Given the description of an element on the screen output the (x, y) to click on. 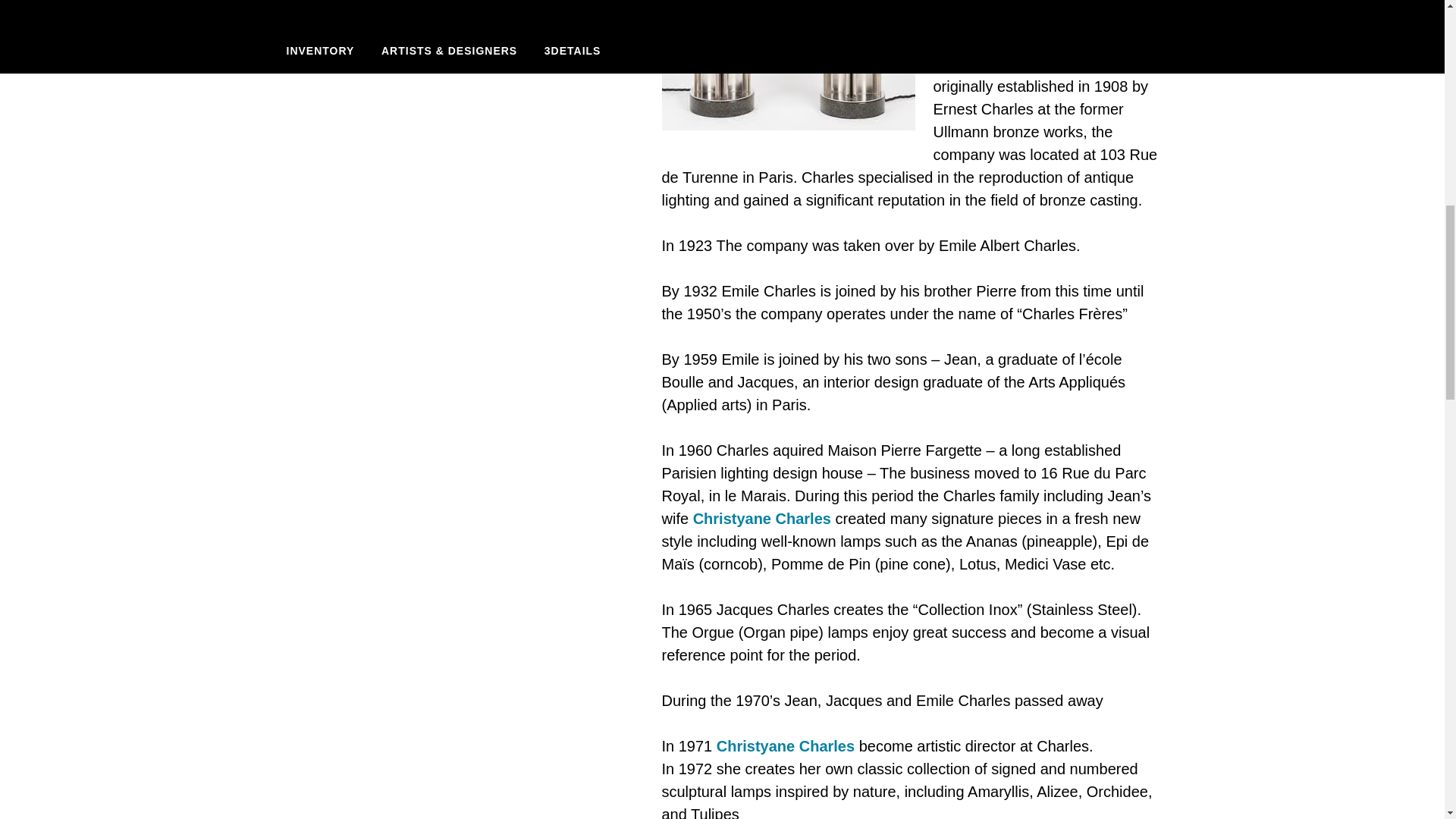
Visit Charles to view a new Pair of Maison Charles Lamps (989, 63)
